Given the description of an element on the screen output the (x, y) to click on. 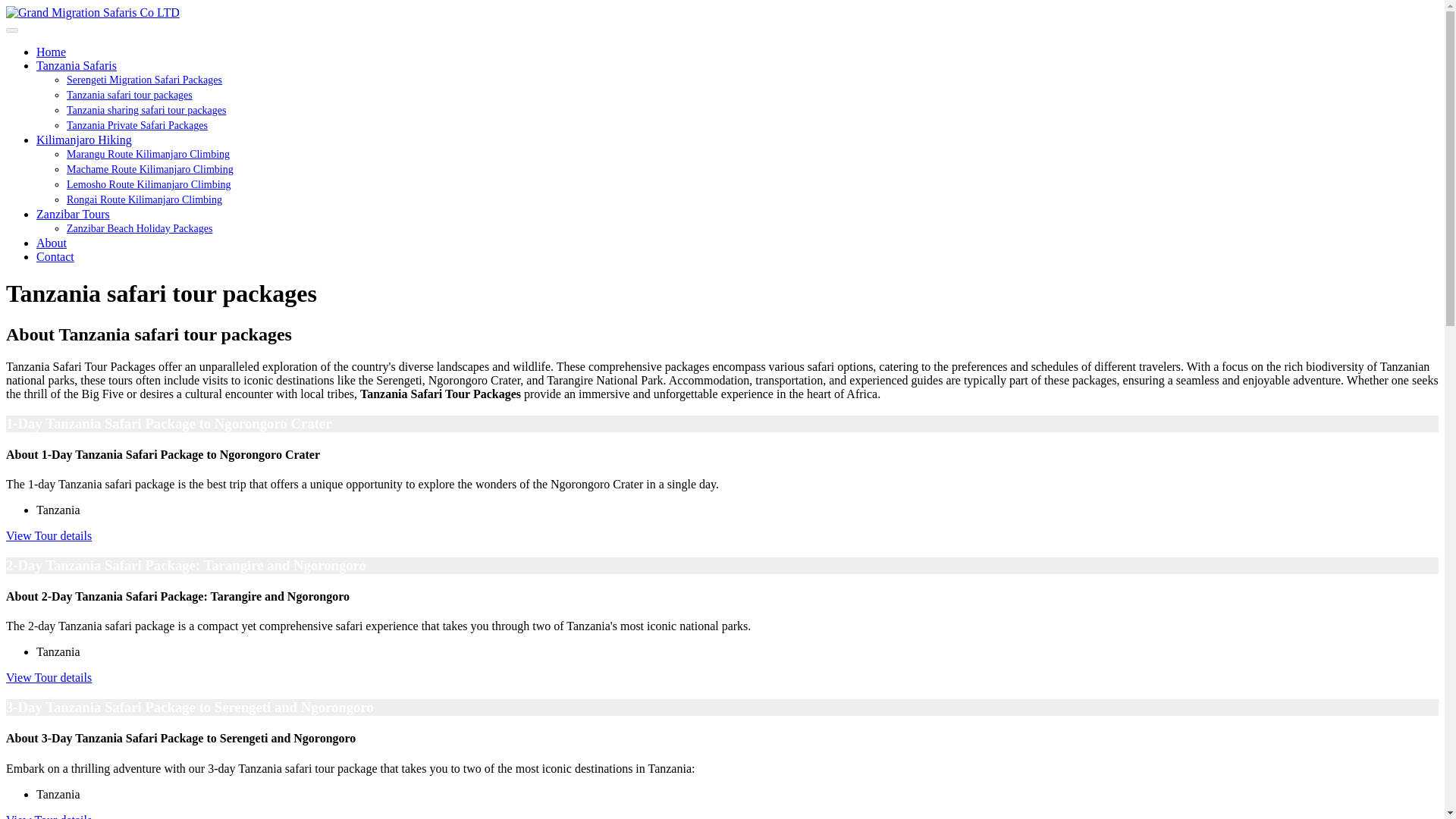
View Tour details (48, 816)
Tanzania safari tour packages (129, 94)
Serengeti Migration Safari Packages (144, 79)
Zanzibar Tours (73, 214)
Machame Route Kilimanjaro Climbing (149, 169)
Tanzania Safaris (76, 65)
View Tour details (48, 535)
Home (50, 51)
About (51, 242)
Rongai Route Kilimanjaro Climbing (144, 199)
